Given the description of an element on the screen output the (x, y) to click on. 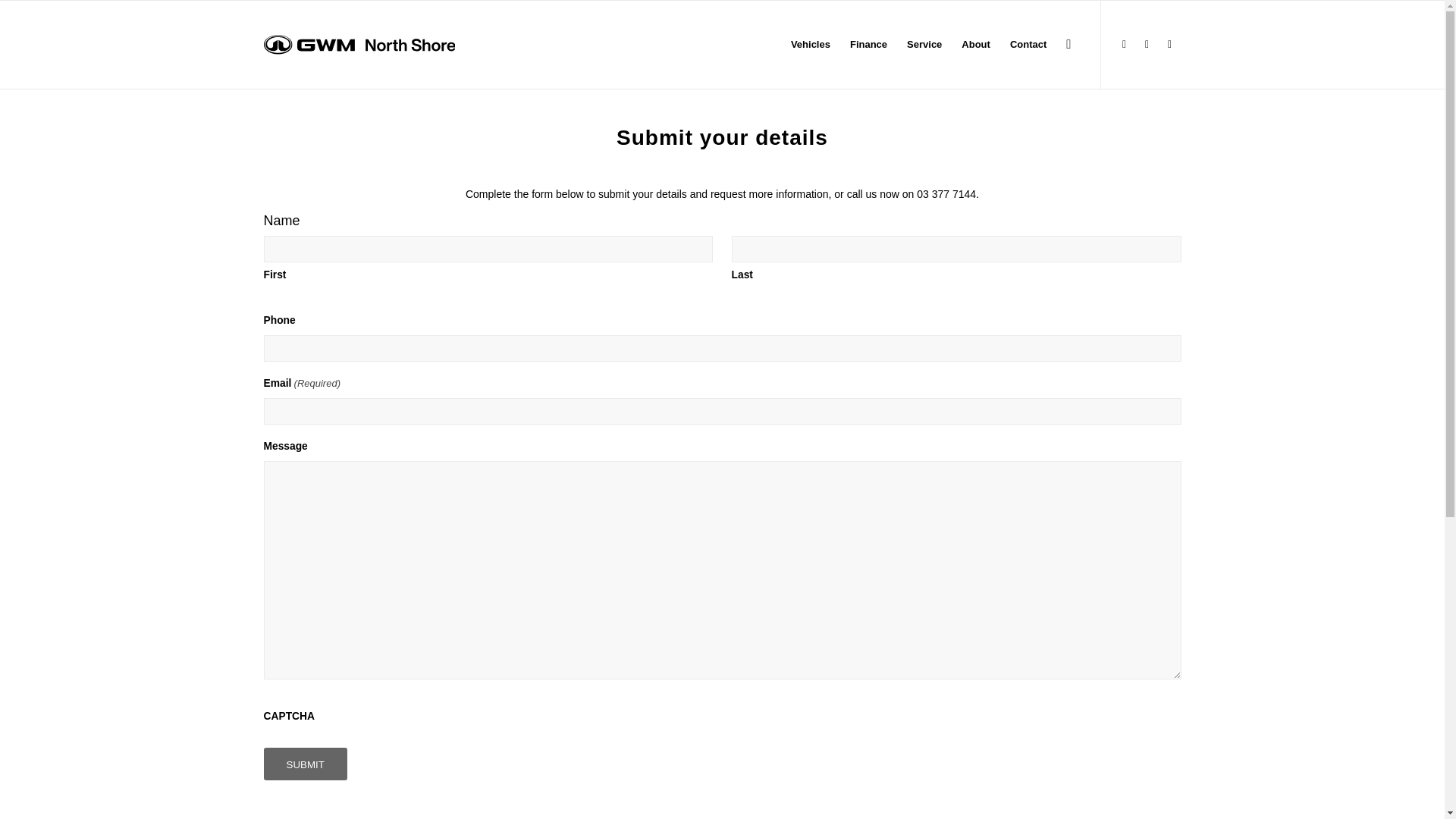
Submit (305, 763)
Submit (305, 763)
Facebook (1124, 43)
LinkedIn (1169, 43)
03 377 7144 (946, 193)
Instagram (1146, 43)
